Given the description of an element on the screen output the (x, y) to click on. 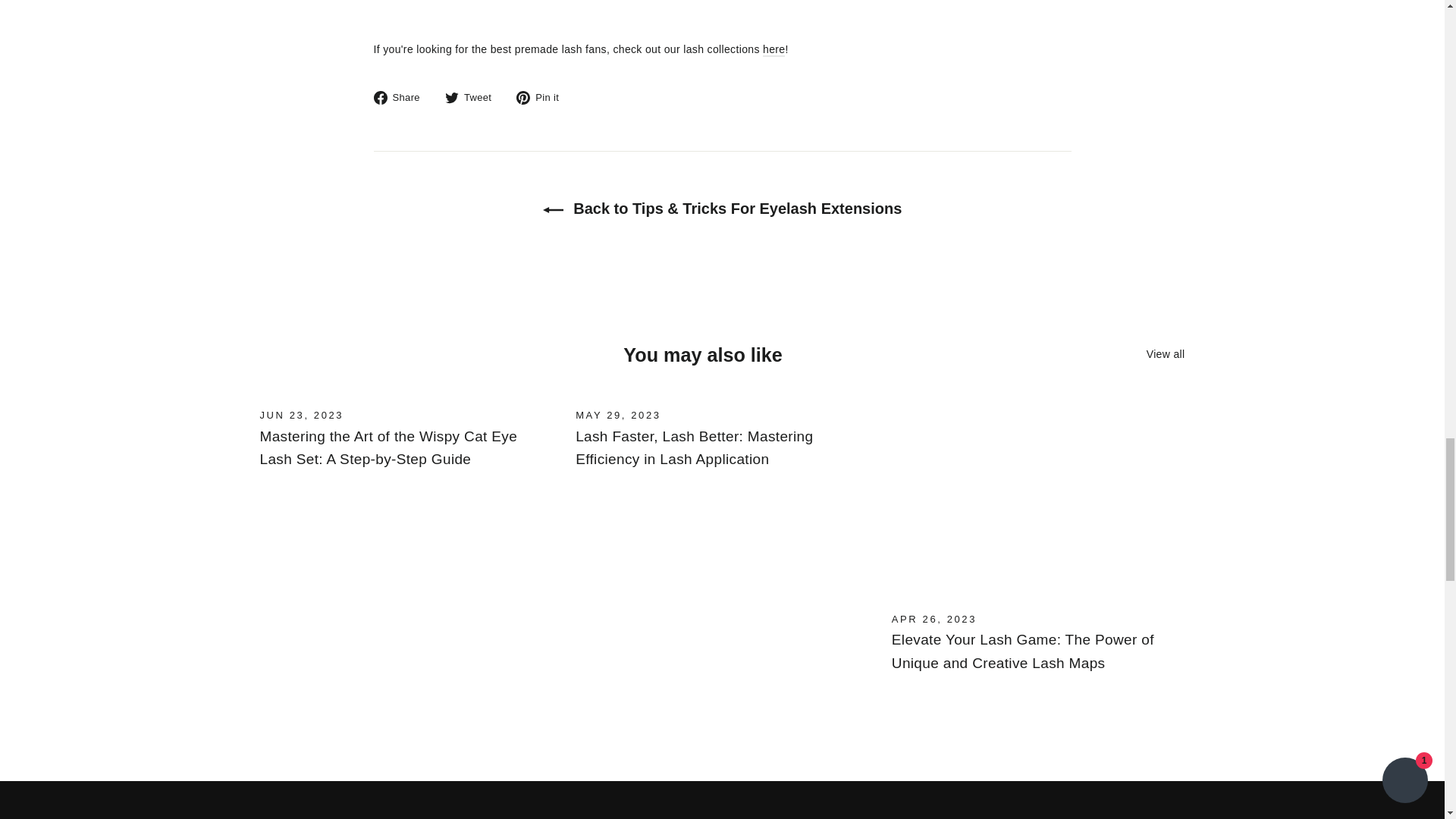
Tweet on Twitter (473, 97)
Pin on Pinterest (543, 97)
Lash Collection (773, 49)
Share on Facebook (401, 97)
